Given the description of an element on the screen output the (x, y) to click on. 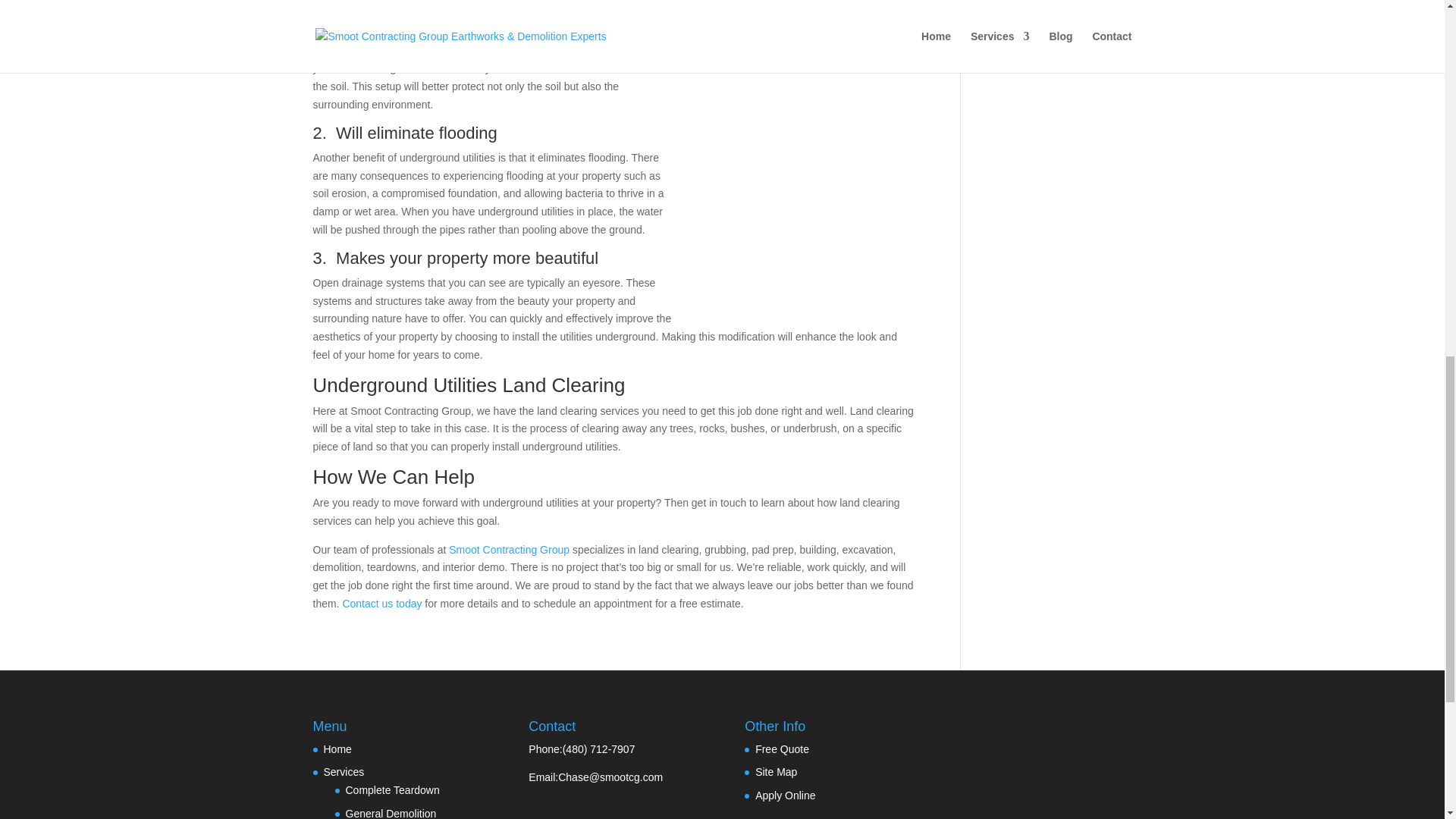
Services (343, 771)
Apply Online (785, 795)
General Demolition (391, 813)
Smoot Contracting Group (507, 549)
Complete Teardown (392, 789)
Site Map (775, 771)
Home (336, 748)
Free Quote (782, 748)
Contact us today (382, 603)
